Given the description of an element on the screen output the (x, y) to click on. 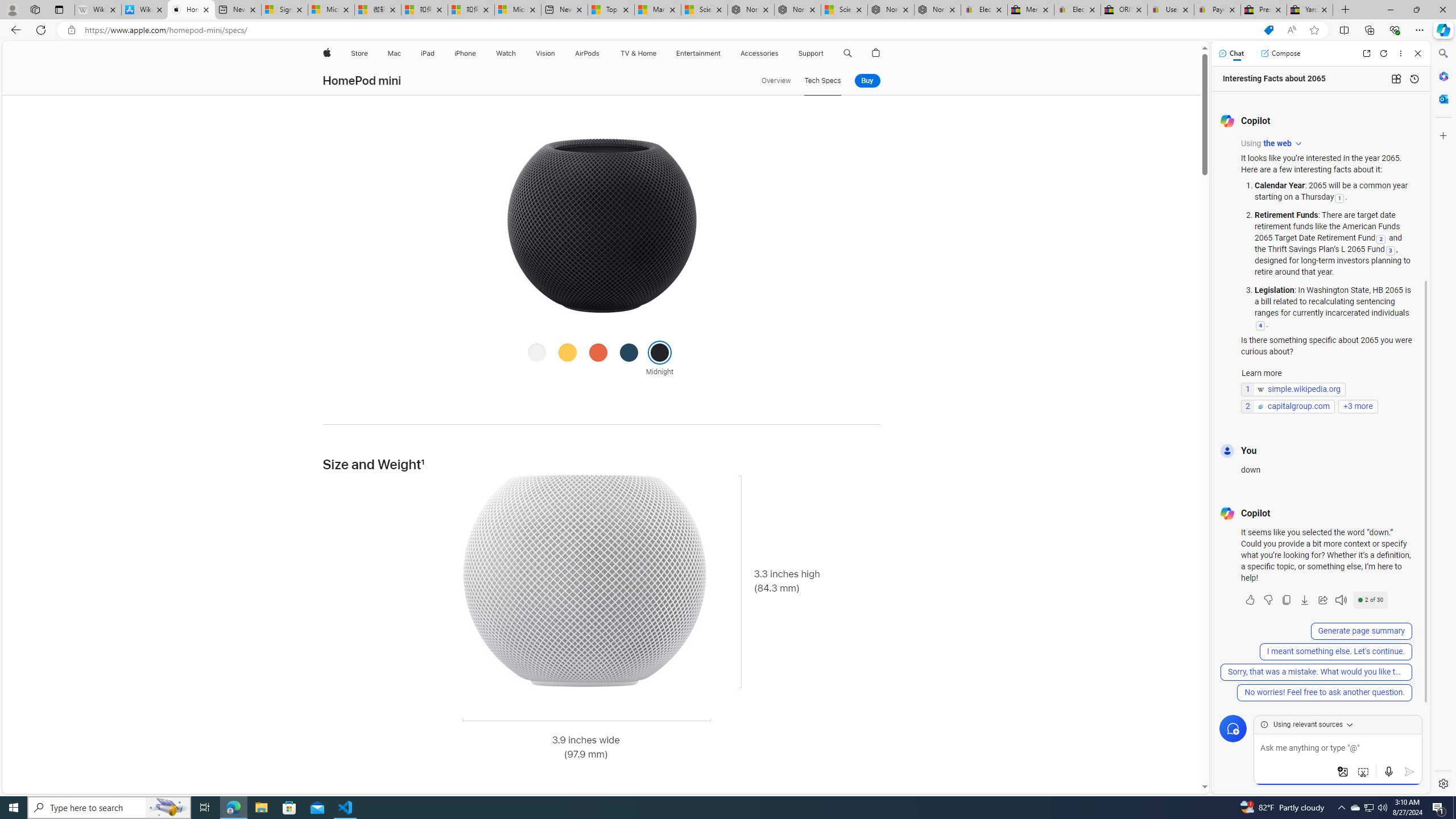
iPad menu (435, 53)
Vision (545, 53)
Mac (394, 53)
Accessories (759, 53)
TV and Home menu (658, 53)
Buy HomePod mini (867, 80)
Midnight (659, 351)
